Given the description of an element on the screen output the (x, y) to click on. 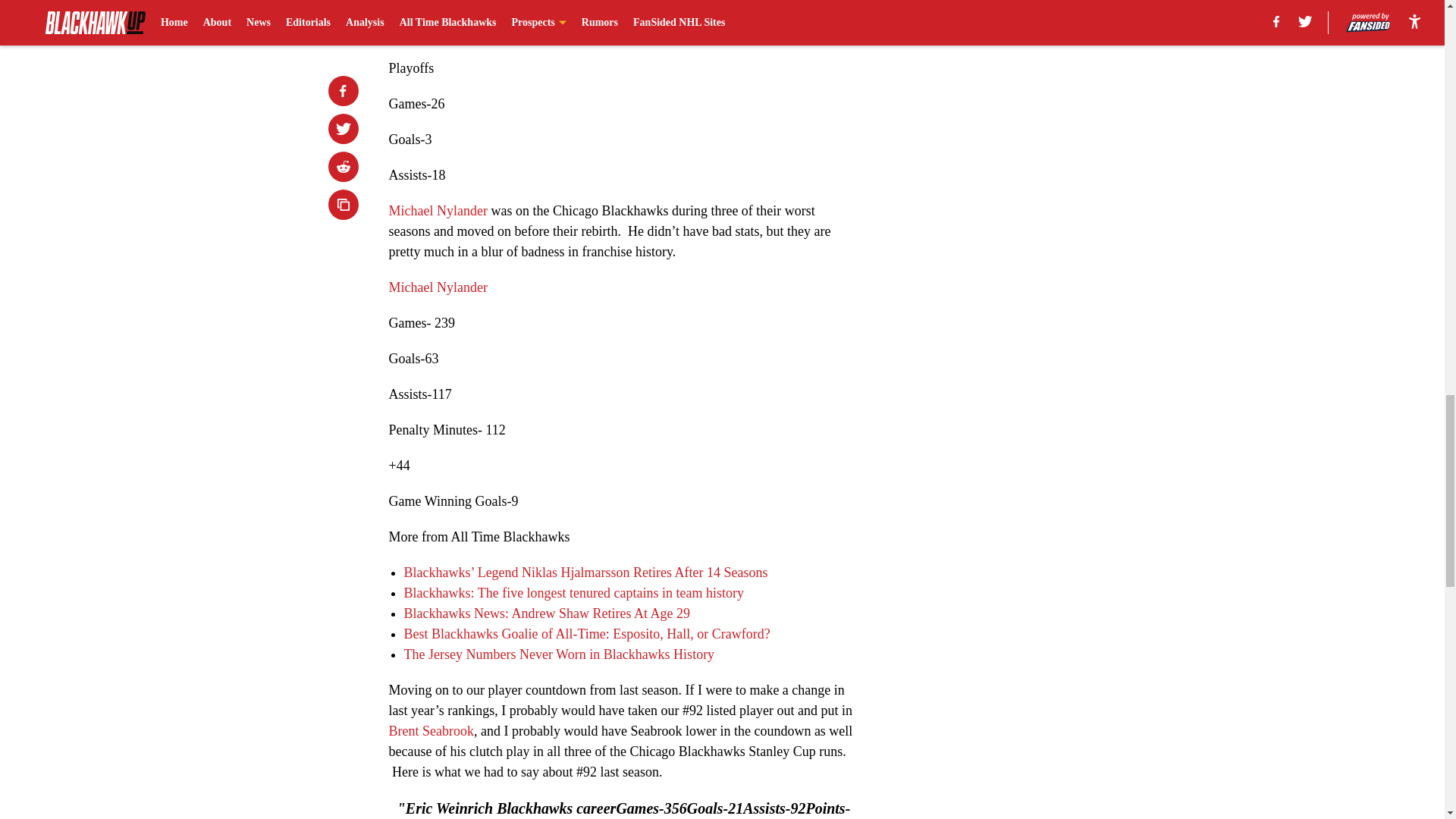
Brent Seabrook (430, 730)
Michael Nylander (437, 210)
Michael Nylander (437, 287)
Blackhawks News: Andrew Shaw Retires At Age 29 (545, 613)
The Jersey Numbers Never Worn in Blackhawks History (558, 654)
